Given the description of an element on the screen output the (x, y) to click on. 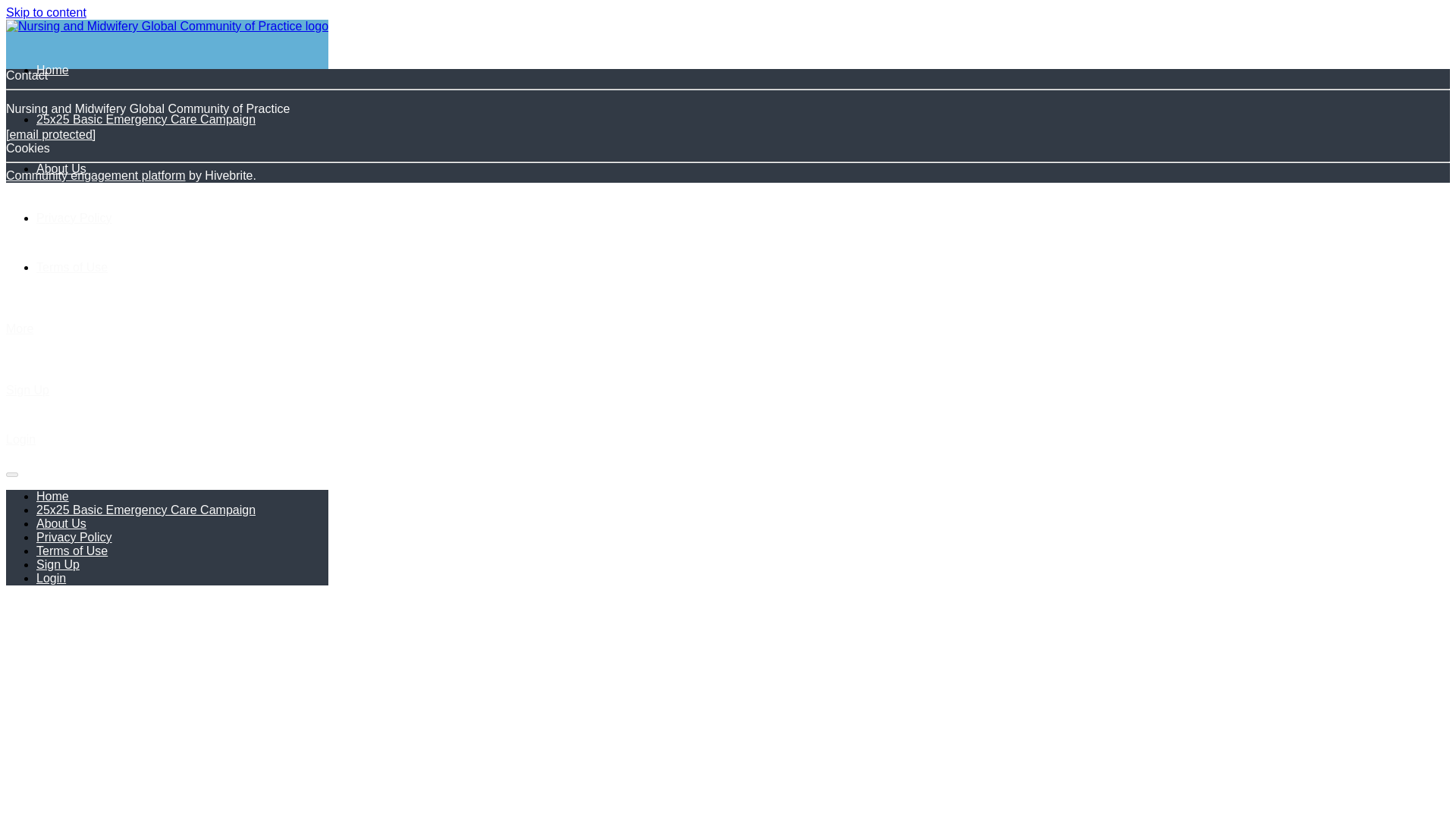
Skip to content (45, 11)
About Us (60, 168)
Home (52, 69)
25x25 Basic Emergency Care Campaign (146, 119)
